Given the description of an element on the screen output the (x, y) to click on. 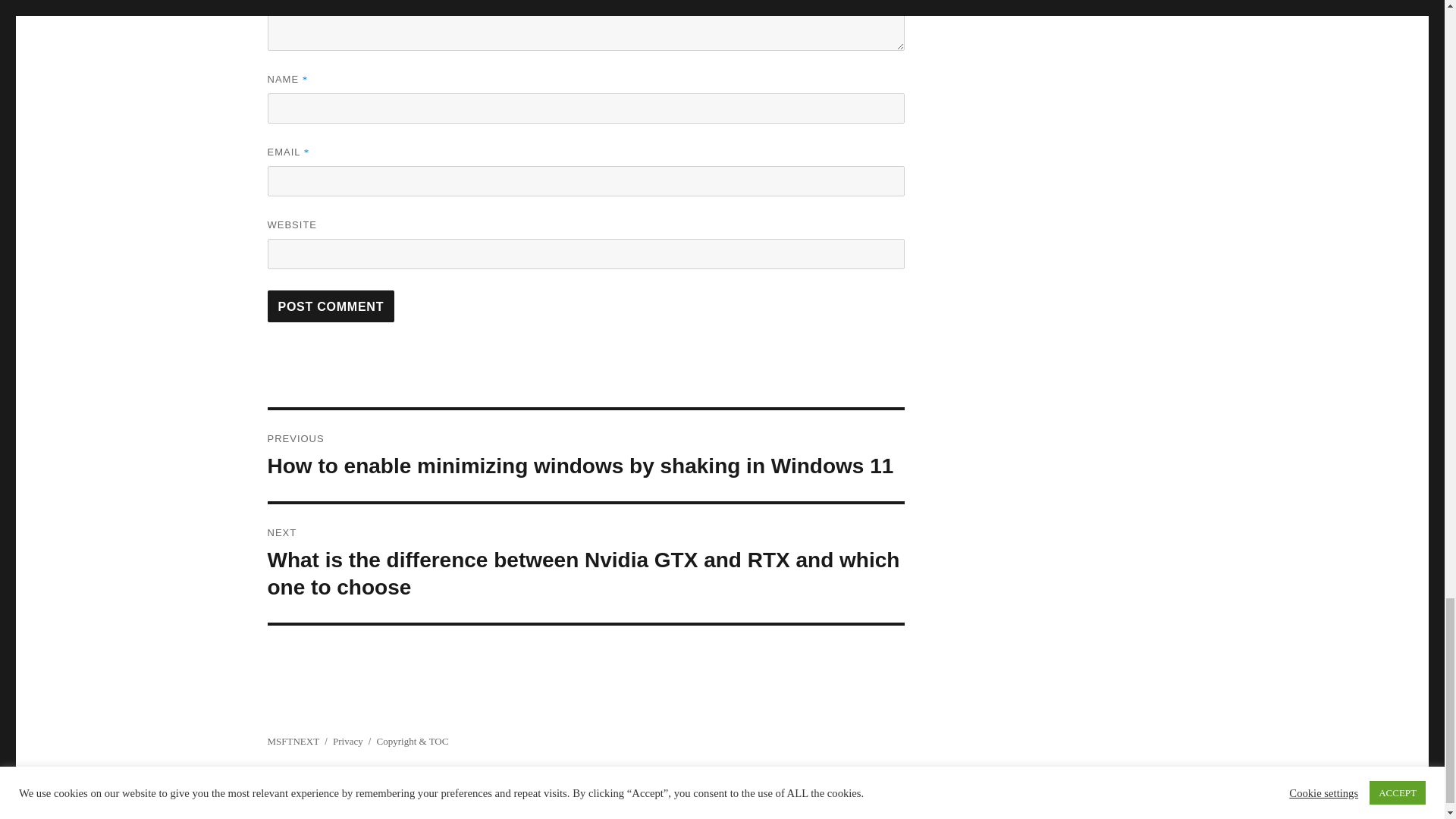
Post Comment (330, 306)
Post Comment (330, 306)
